Given the description of an element on the screen output the (x, y) to click on. 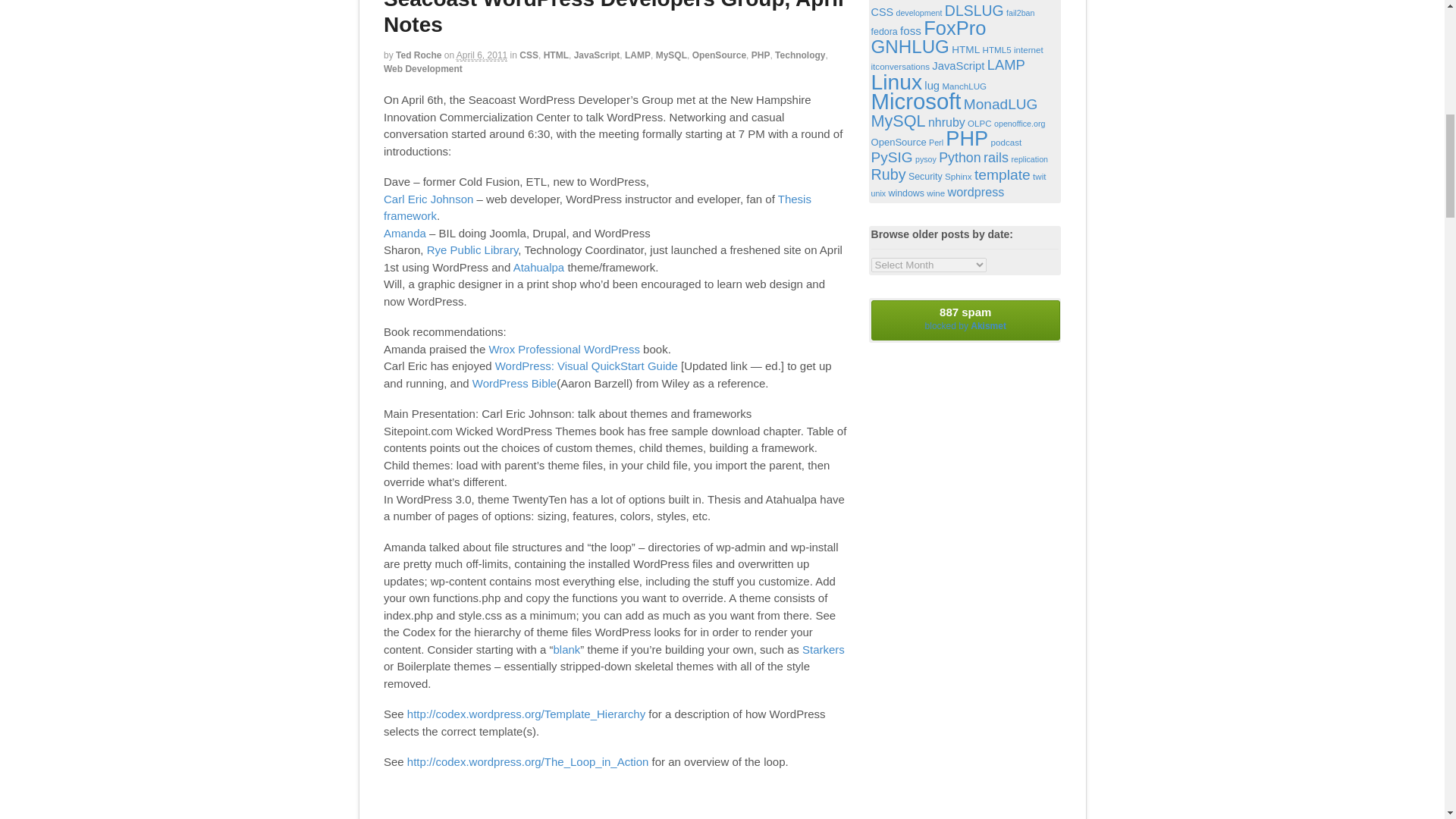
PHP (760, 54)
Seacoast WordPress Developers Group, April Notes (614, 18)
CSS (528, 54)
MySQL (671, 54)
Technology (799, 54)
Ted Roche (418, 54)
LAMP (637, 54)
HTML (556, 54)
JavaScript (596, 54)
OpenSource (719, 54)
